Given the description of an element on the screen output the (x, y) to click on. 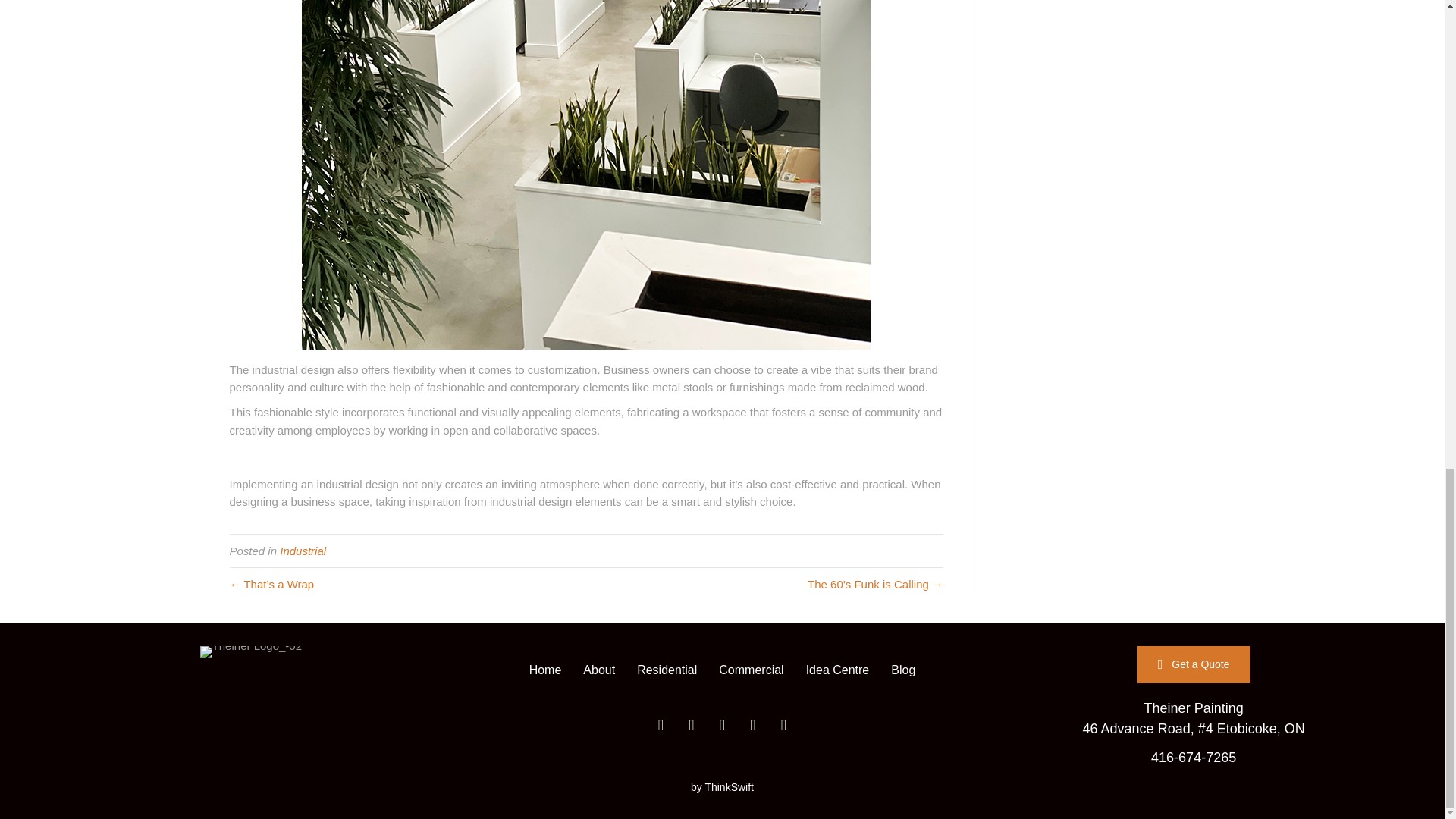
Industrial (302, 550)
